Given the description of an element on the screen output the (x, y) to click on. 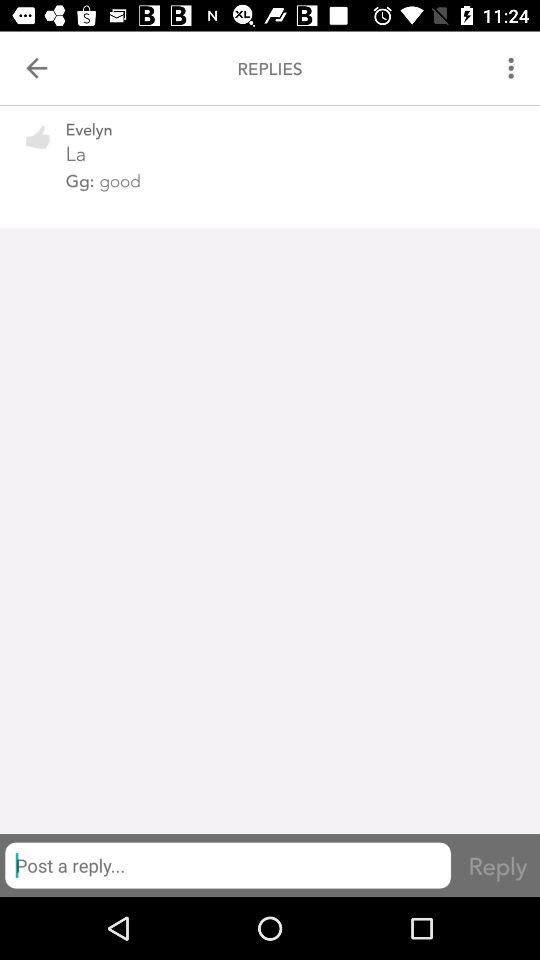
turn on item to the left of evelyn (37, 149)
